Given the description of an element on the screen output the (x, y) to click on. 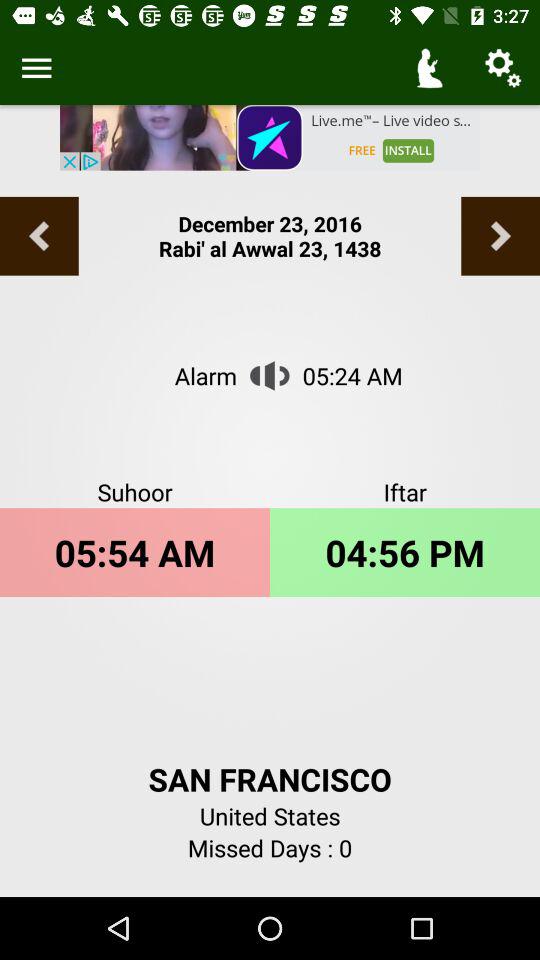
go to previous (39, 235)
